Given the description of an element on the screen output the (x, y) to click on. 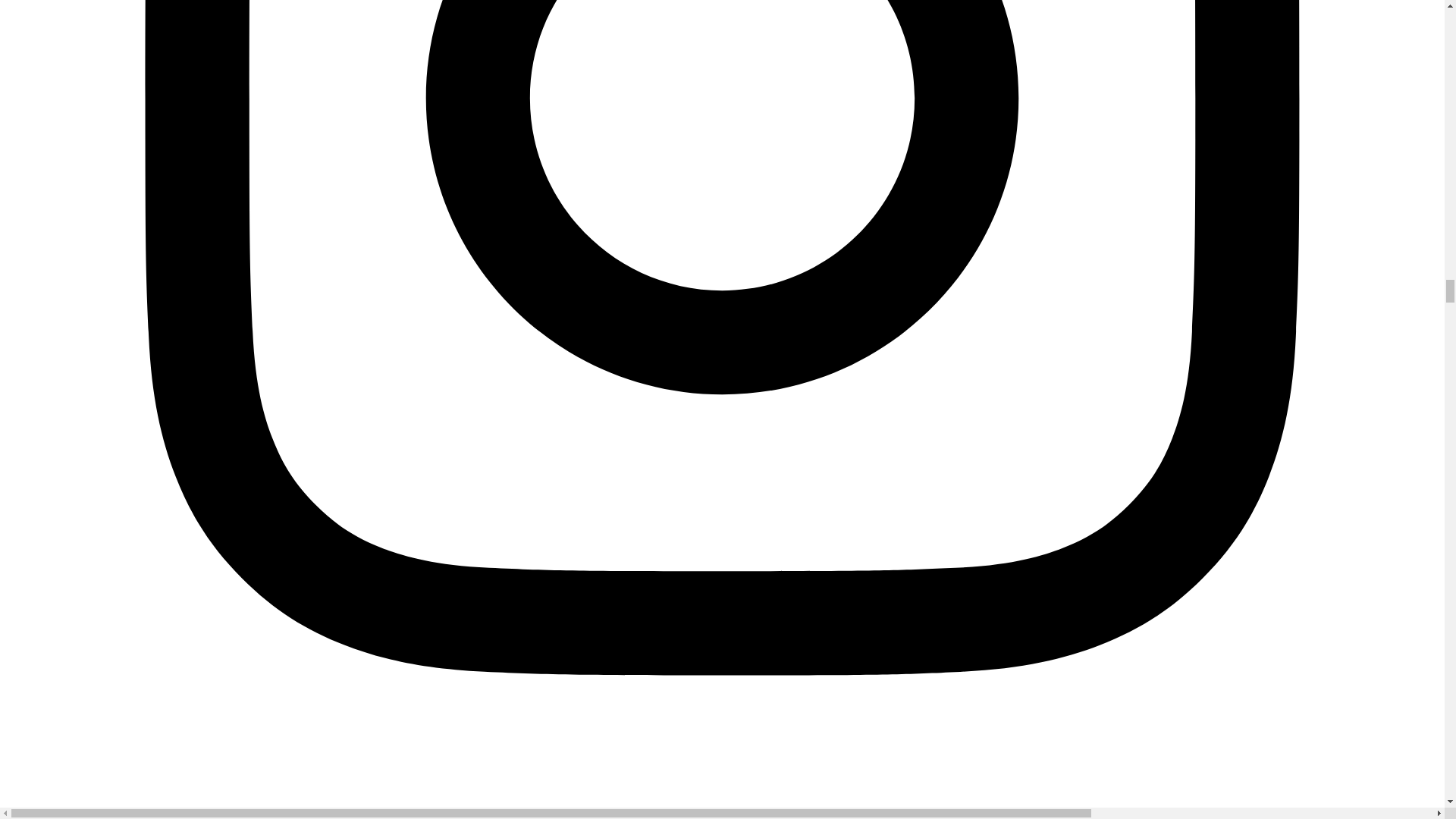
Contact (26, 816)
